Given the description of an element on the screen output the (x, y) to click on. 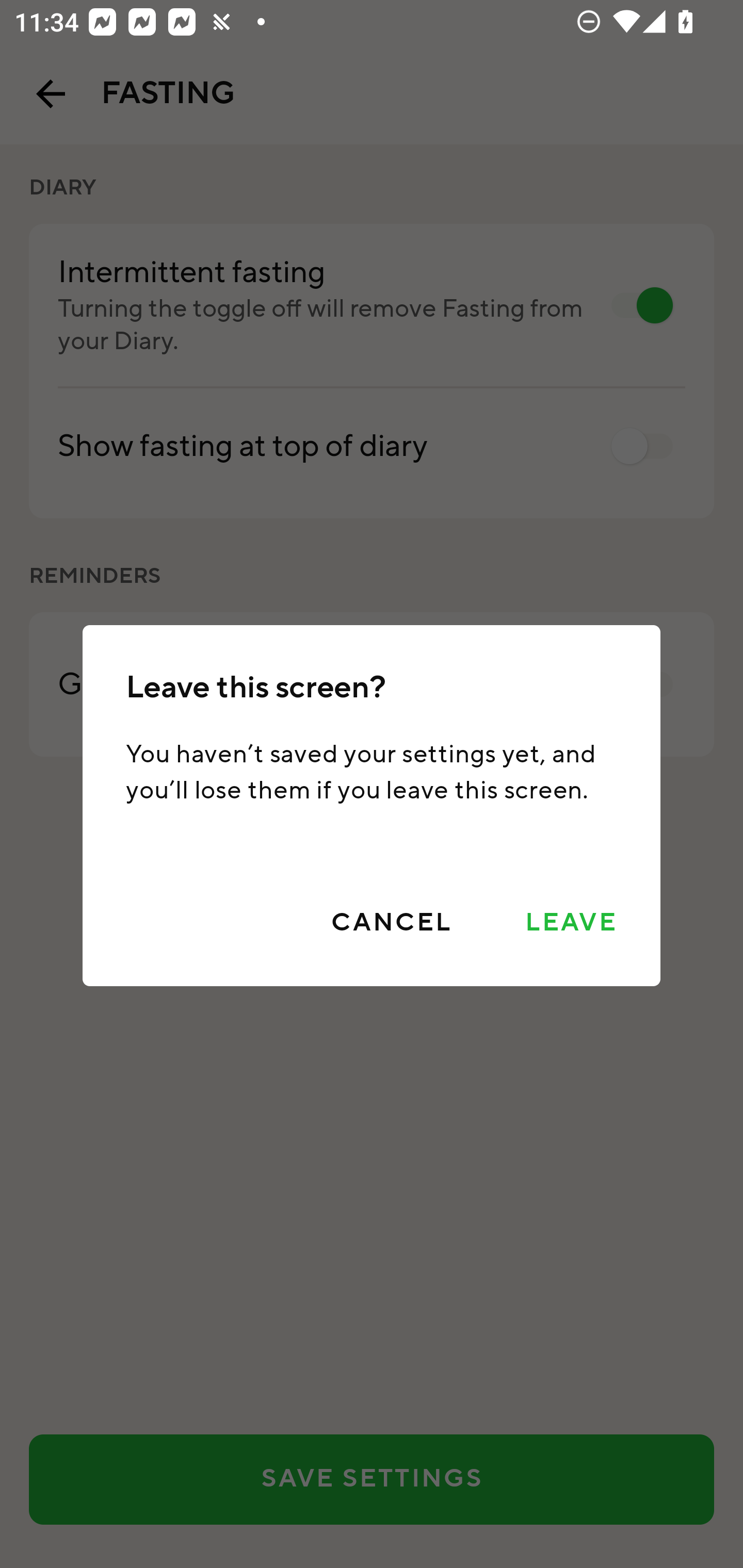
CANCEL (390, 922)
LEAVE (570, 922)
